Given the description of an element on the screen output the (x, y) to click on. 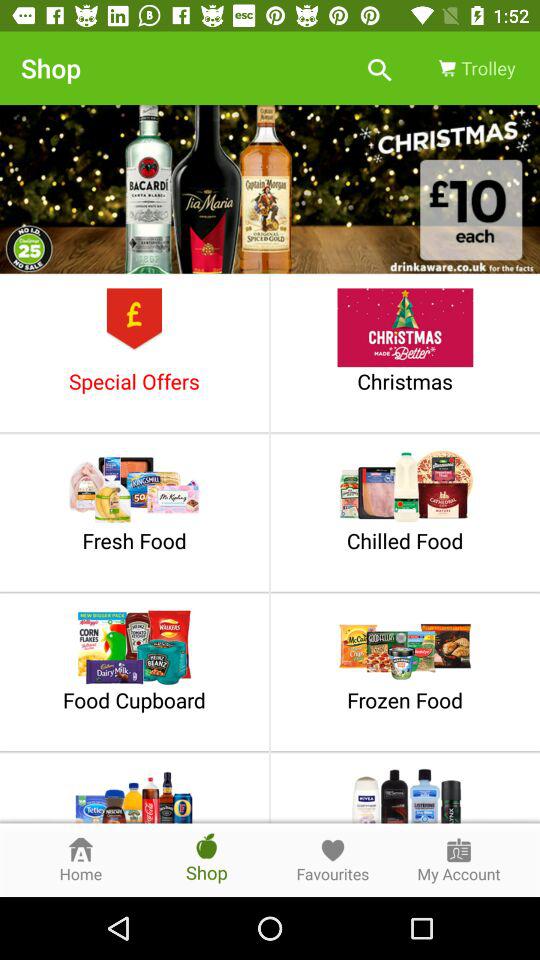
turn on the icon next to the trolley item (379, 67)
